Given the description of an element on the screen output the (x, y) to click on. 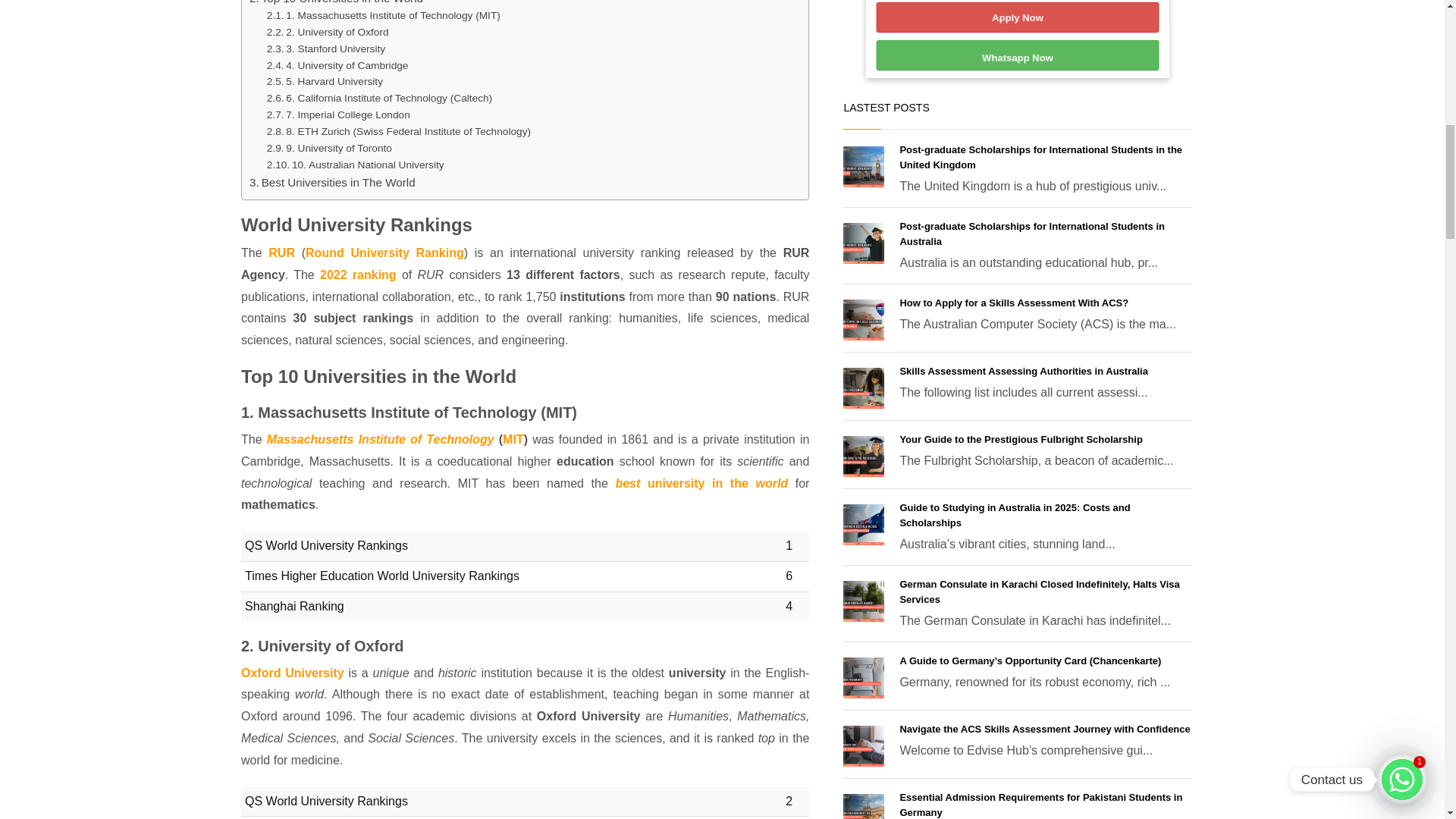
Top 10 Universities in the World (335, 3)
3. Stanford University (325, 48)
5. Harvard University (324, 81)
4. University of Cambridge (337, 65)
